Given the description of an element on the screen output the (x, y) to click on. 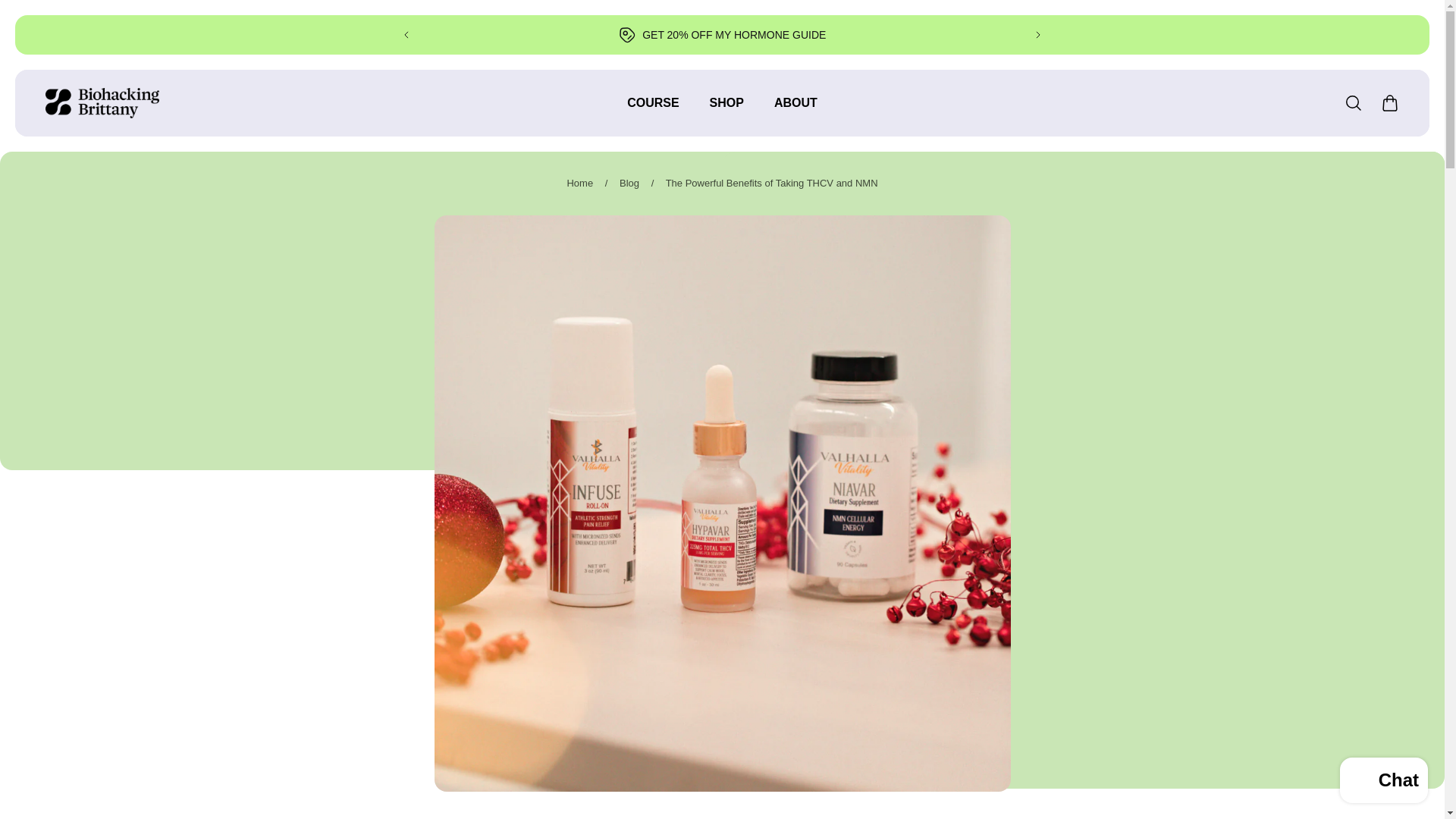
Home (579, 183)
The Powerful Benefits of Taking THCV and NMN (771, 183)
SHOP (726, 110)
ABOUT (795, 110)
Shopify online store chat (1383, 781)
Blog (629, 183)
COURSE (652, 110)
